Given the description of an element on the screen output the (x, y) to click on. 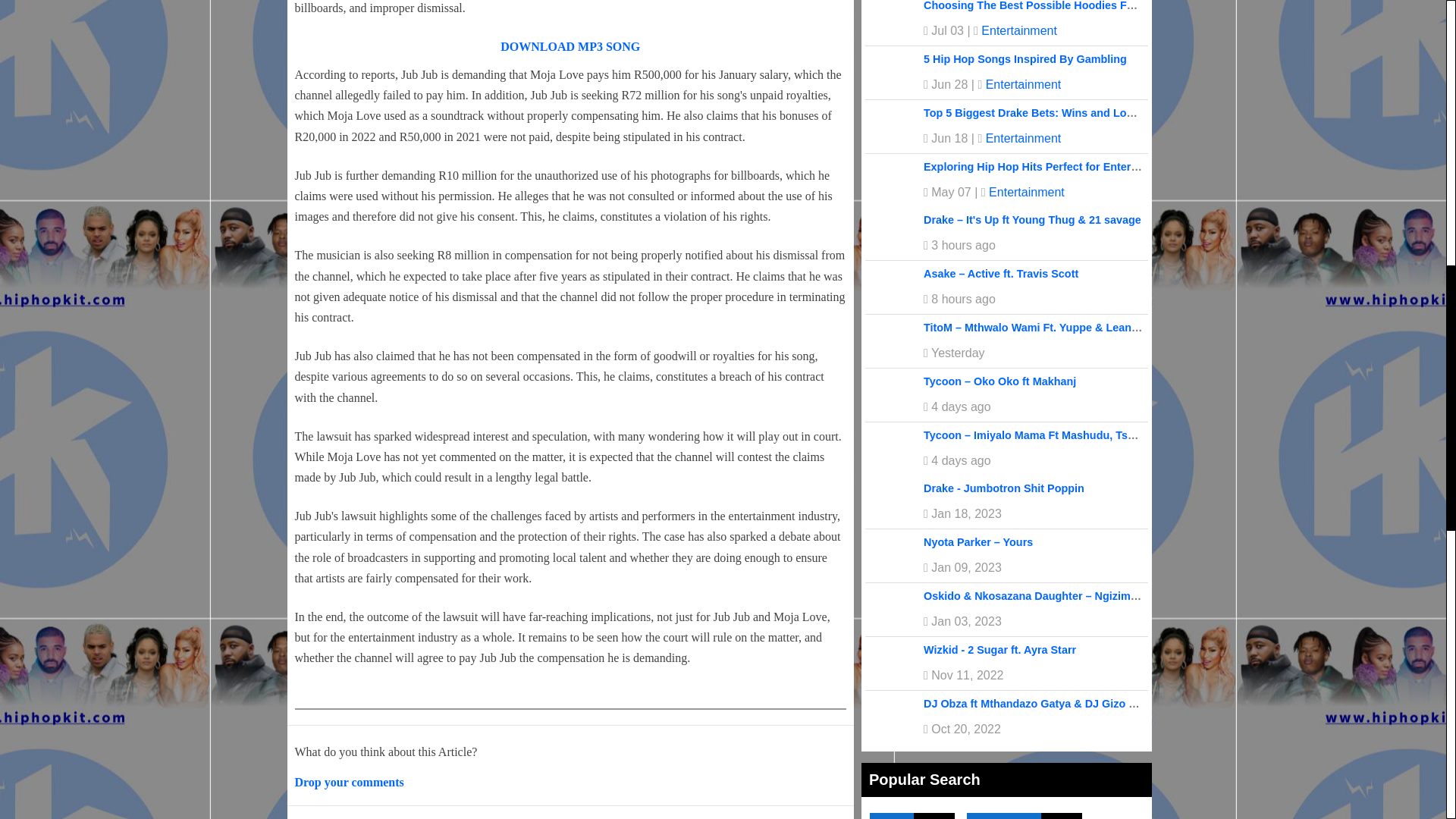
Top 5 Biggest Drake Bets: Wins and Losses (1036, 112)
Choosing The Best Possible Hoodies For You (1041, 5)
DOWNLOAD MP3 SONG (570, 46)
Entertainment (1023, 83)
Drop your comments (348, 781)
Entertainment (1026, 192)
5 Hip Hop Songs Inspired By Gambling (1024, 59)
Entertainment (1019, 30)
Entertainment (1023, 137)
